Given the description of an element on the screen output the (x, y) to click on. 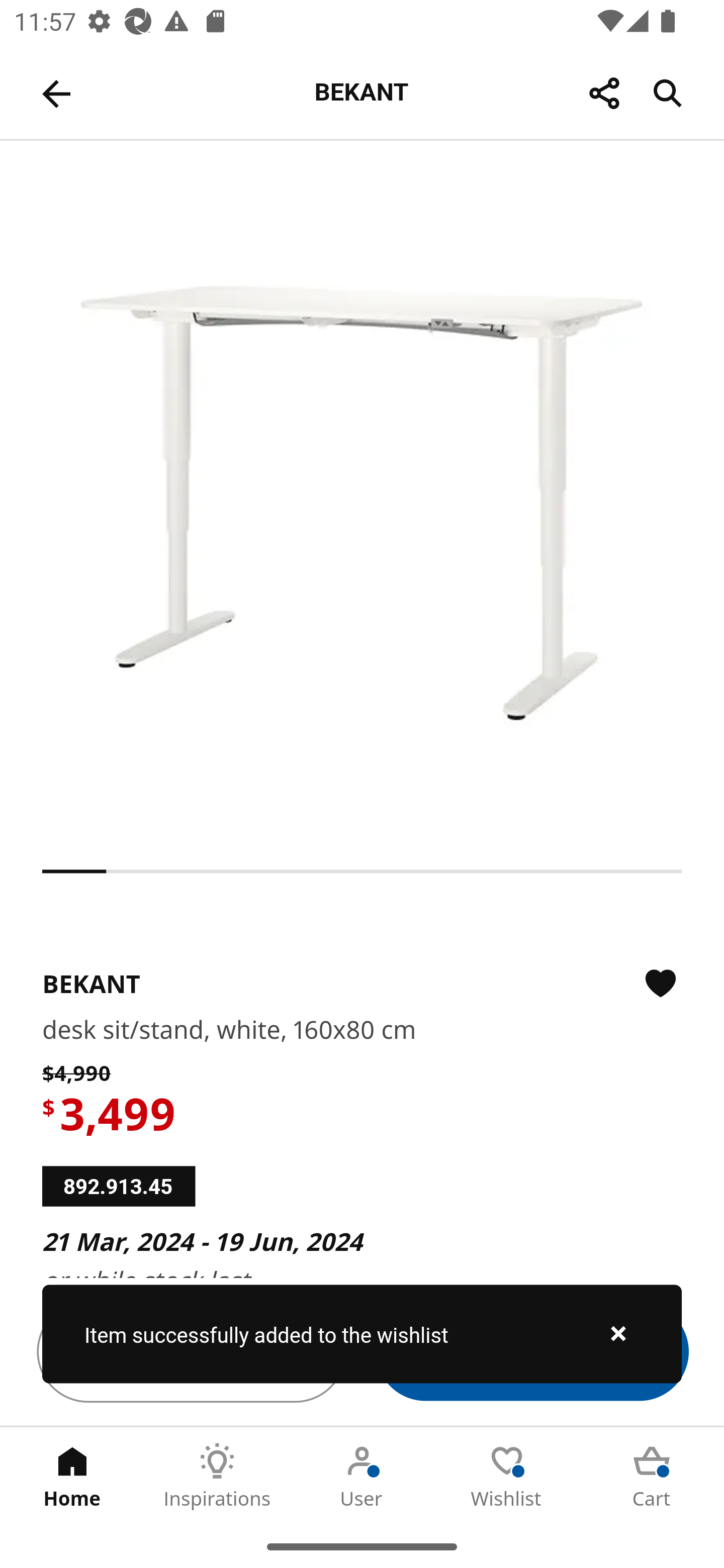
Item successfully added to the wishlist (361, 1333)
Home
Tab 1 of 5 (72, 1476)
Inspirations
Tab 2 of 5 (216, 1476)
User
Tab 3 of 5 (361, 1476)
Wishlist
Tab 4 of 5 (506, 1476)
Cart
Tab 5 of 5 (651, 1476)
